Given the description of an element on the screen output the (x, y) to click on. 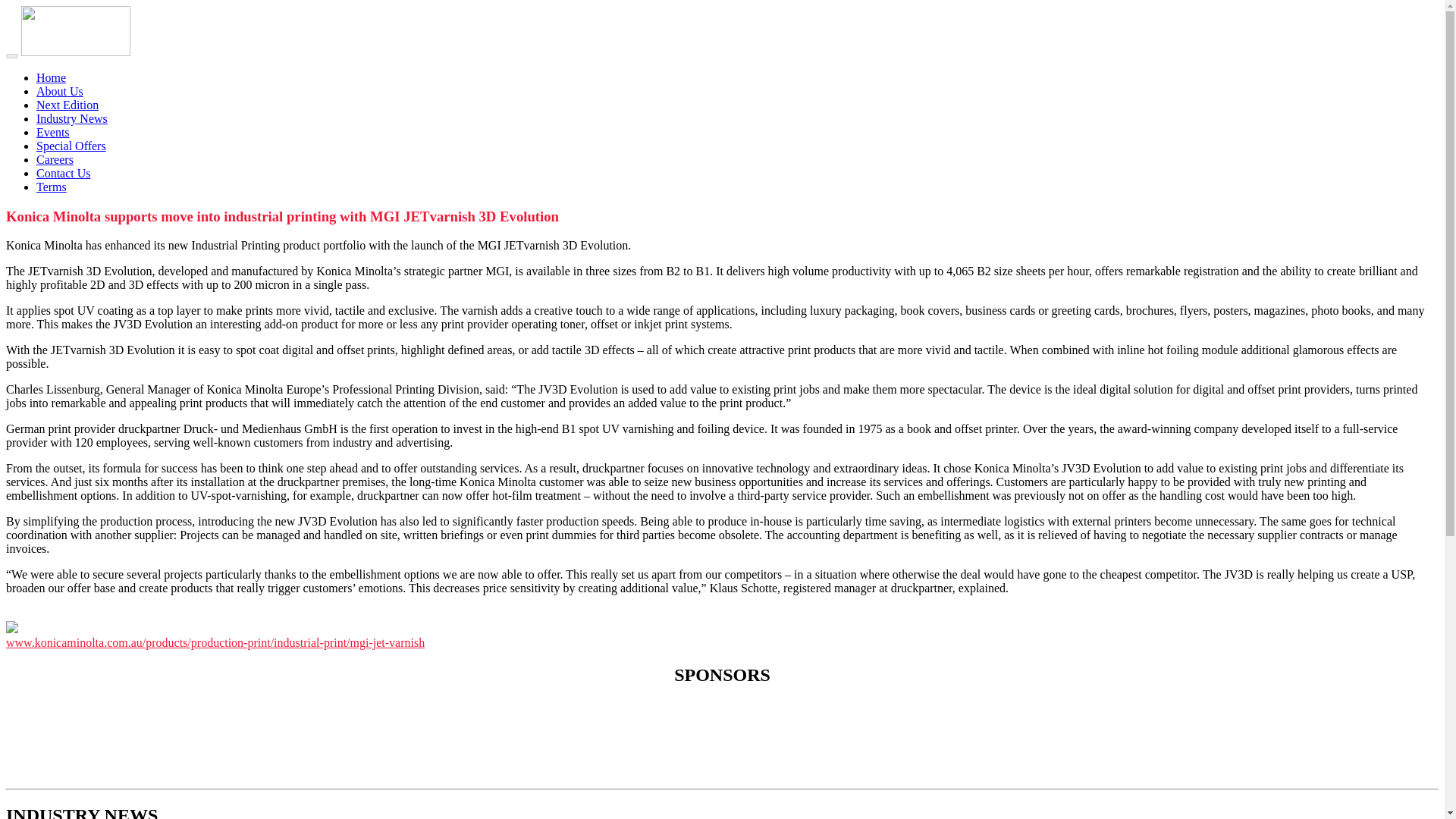
Events (52, 132)
Contact Us (63, 173)
About Us (59, 91)
Industry News (71, 118)
Home (50, 77)
Special Offers (71, 145)
Terms (51, 186)
Careers (55, 159)
Next Edition (67, 104)
